Given the description of an element on the screen output the (x, y) to click on. 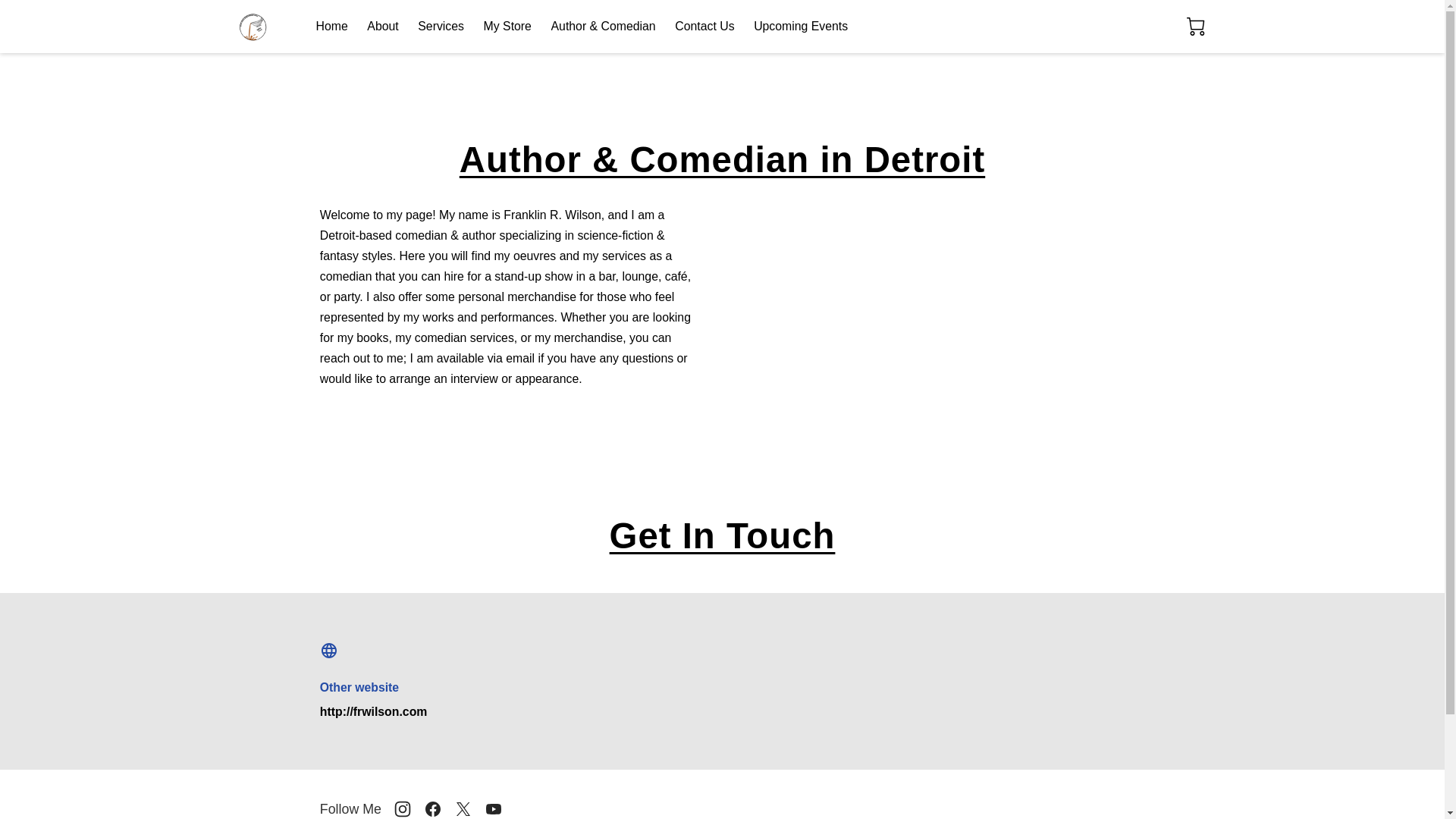
Contact Us (704, 26)
Home (331, 26)
0 (1196, 27)
Upcoming Events (800, 26)
About (381, 26)
My Store (507, 26)
Services (440, 26)
